Given the description of an element on the screen output the (x, y) to click on. 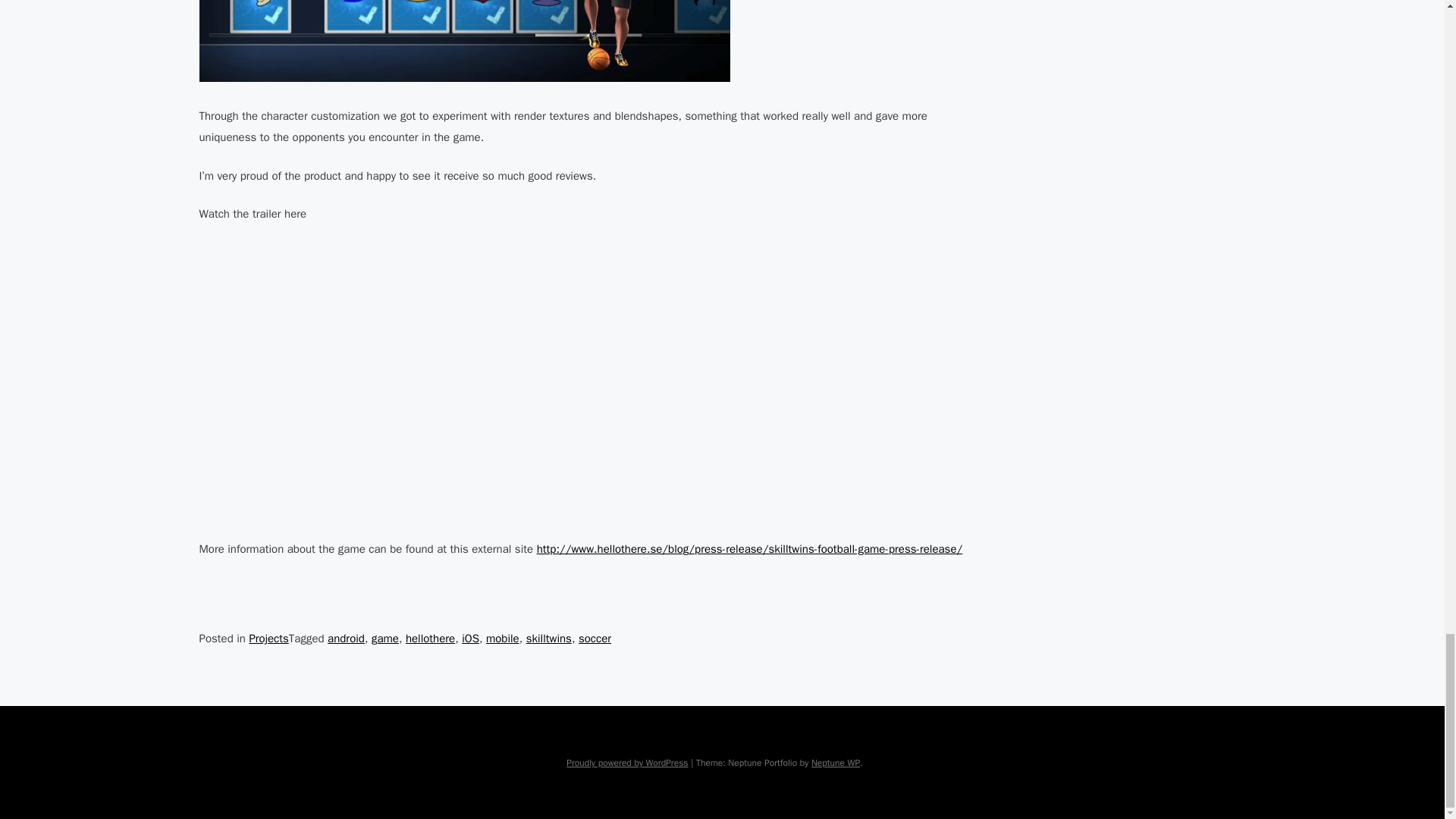
GET SKILLTWINS FOOTBALL GAME TODAY! (441, 378)
iOS (470, 638)
Neptune WP (835, 762)
Projects (268, 638)
soccer (594, 638)
hellothere (430, 638)
Proudly powered by WordPress (626, 762)
android (346, 638)
skilltwins (548, 638)
mobile (502, 638)
game (384, 638)
